Given the description of an element on the screen output the (x, y) to click on. 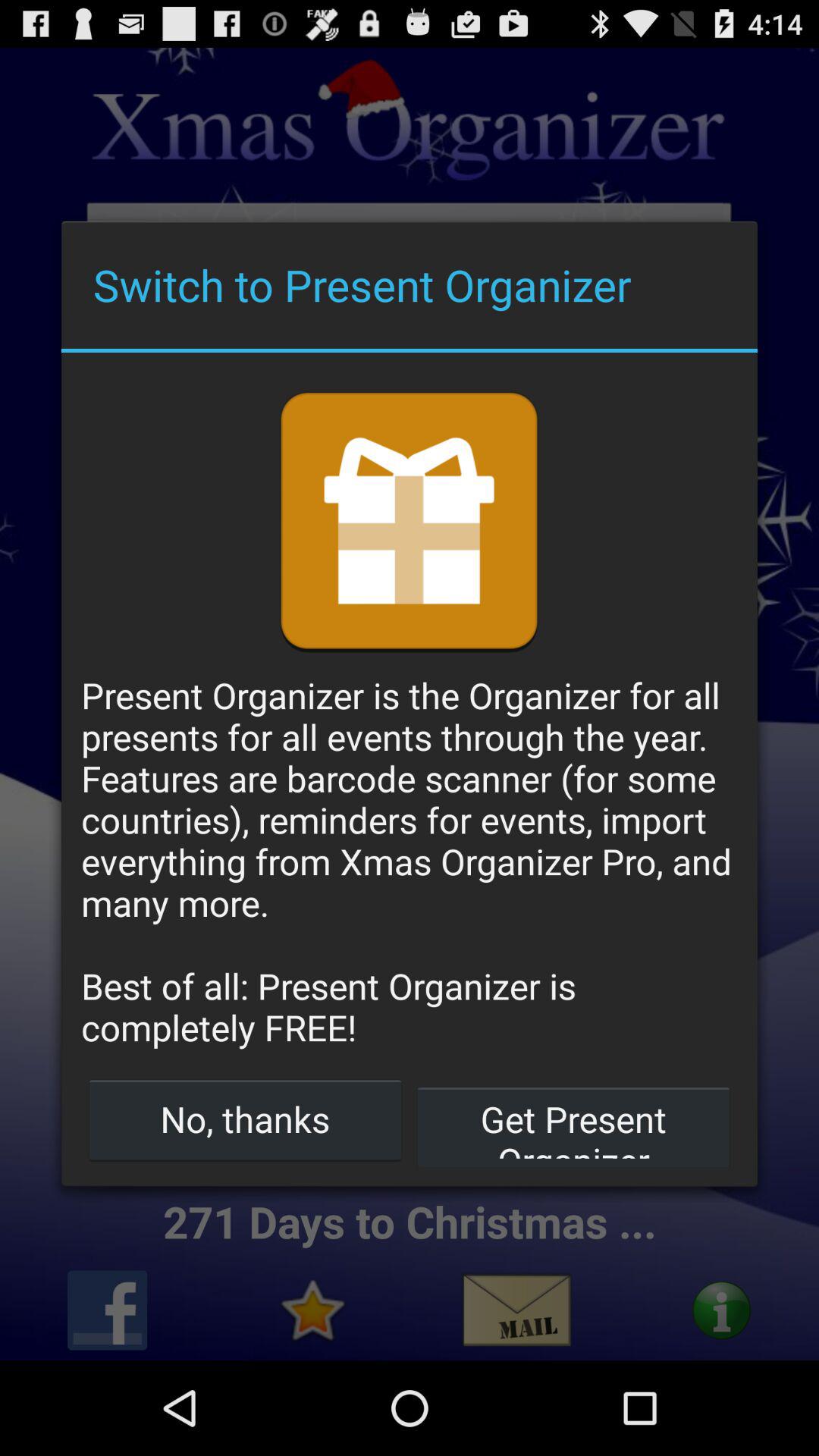
jump until no, thanks button (245, 1119)
